Given the description of an element on the screen output the (x, y) to click on. 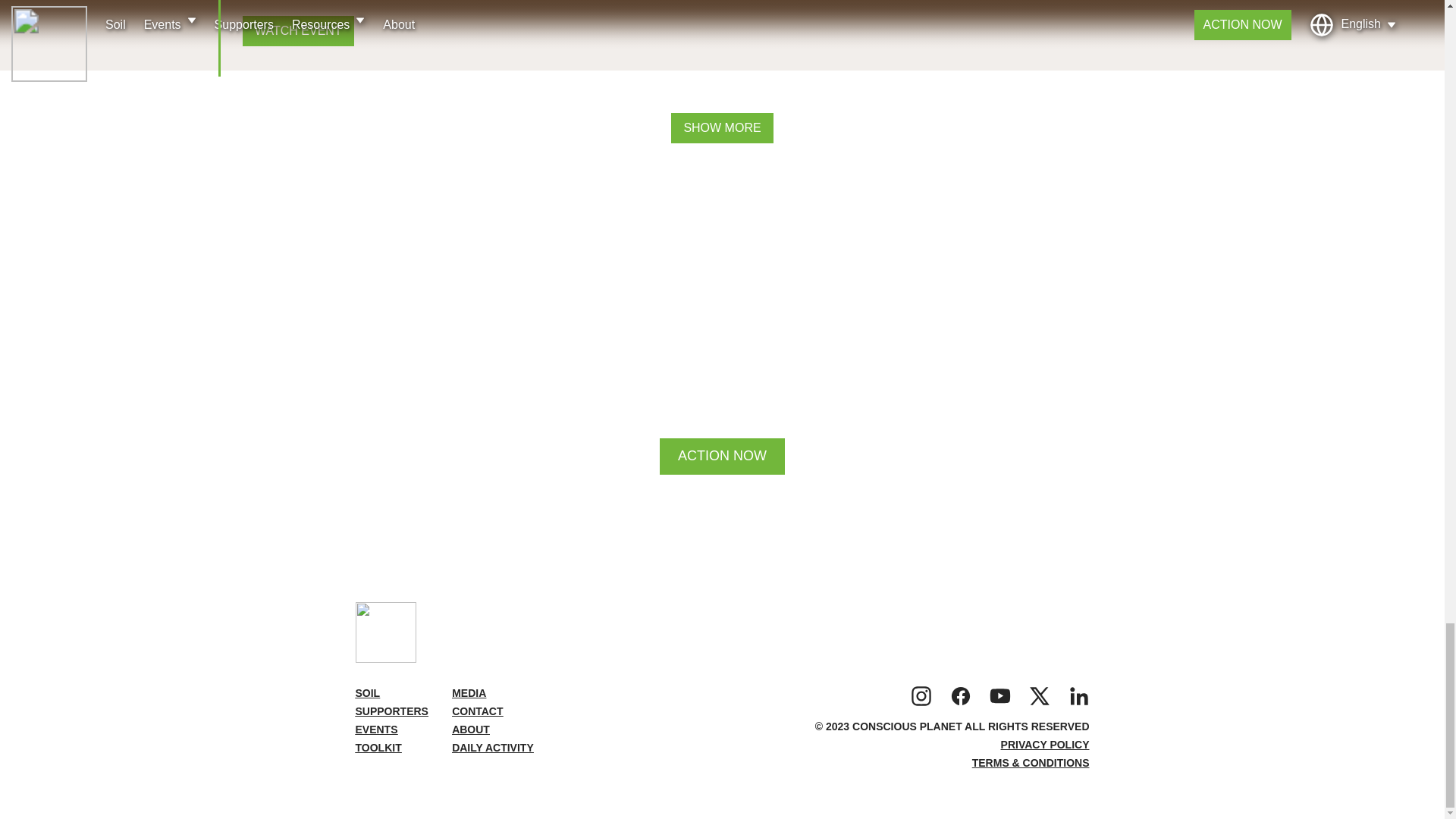
DAILY ACTIVITY (492, 747)
SUPPORTERS (391, 711)
SHOW MORE (722, 128)
ABOUT (470, 729)
EVENTS (376, 729)
MEDIA (468, 693)
ACTION NOW (721, 456)
TOOLKIT (378, 747)
CONTACT (476, 711)
WATCH EVENT (298, 30)
